Given the description of an element on the screen output the (x, y) to click on. 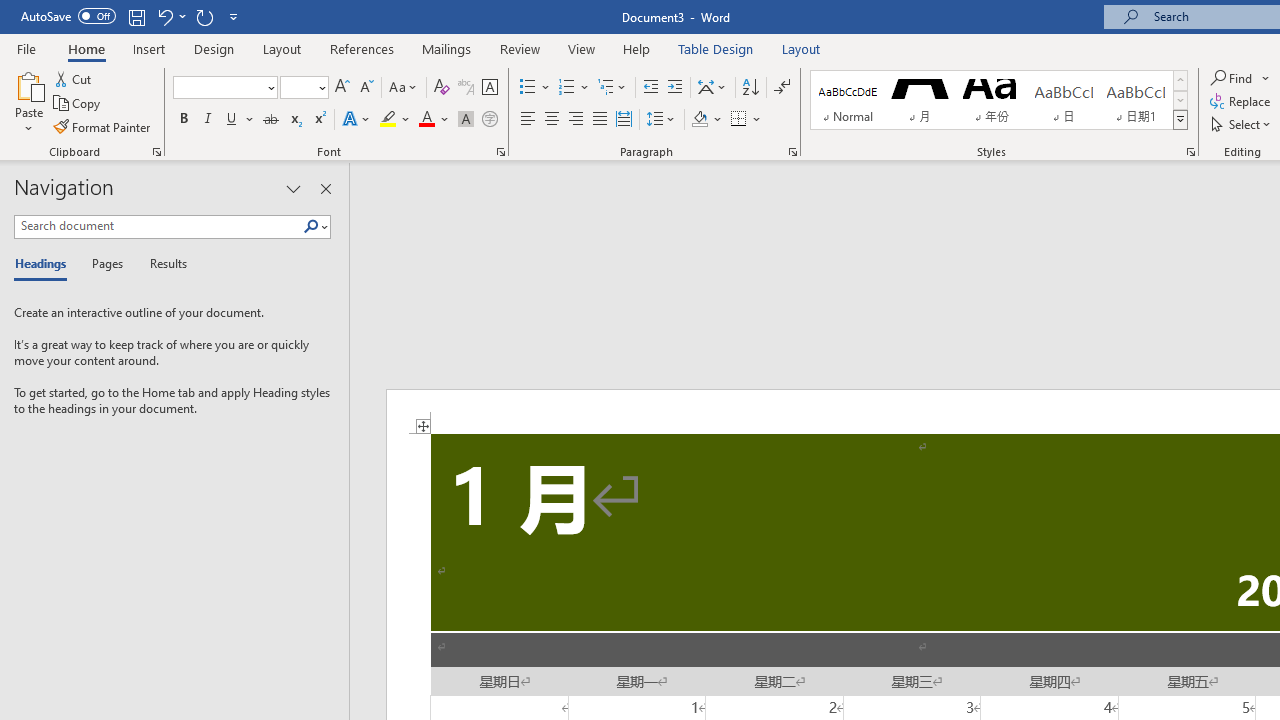
Change Case (404, 87)
Copy (78, 103)
Pages (105, 264)
Results (161, 264)
Grow Font (342, 87)
Align Left (527, 119)
Subscript (294, 119)
